Given the description of an element on the screen output the (x, y) to click on. 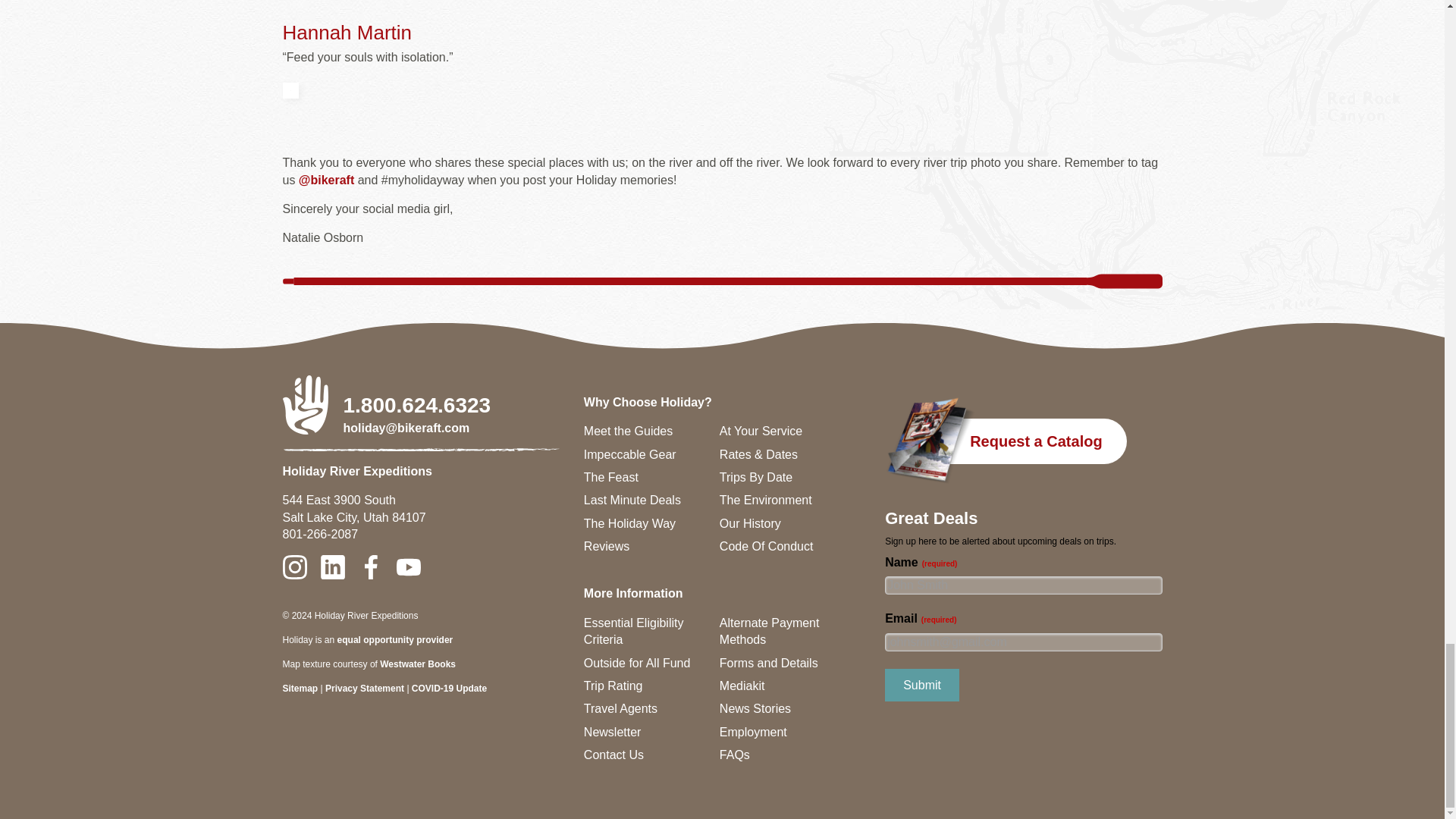
John Smith (1023, 585)
